Given the description of an element on the screen output the (x, y) to click on. 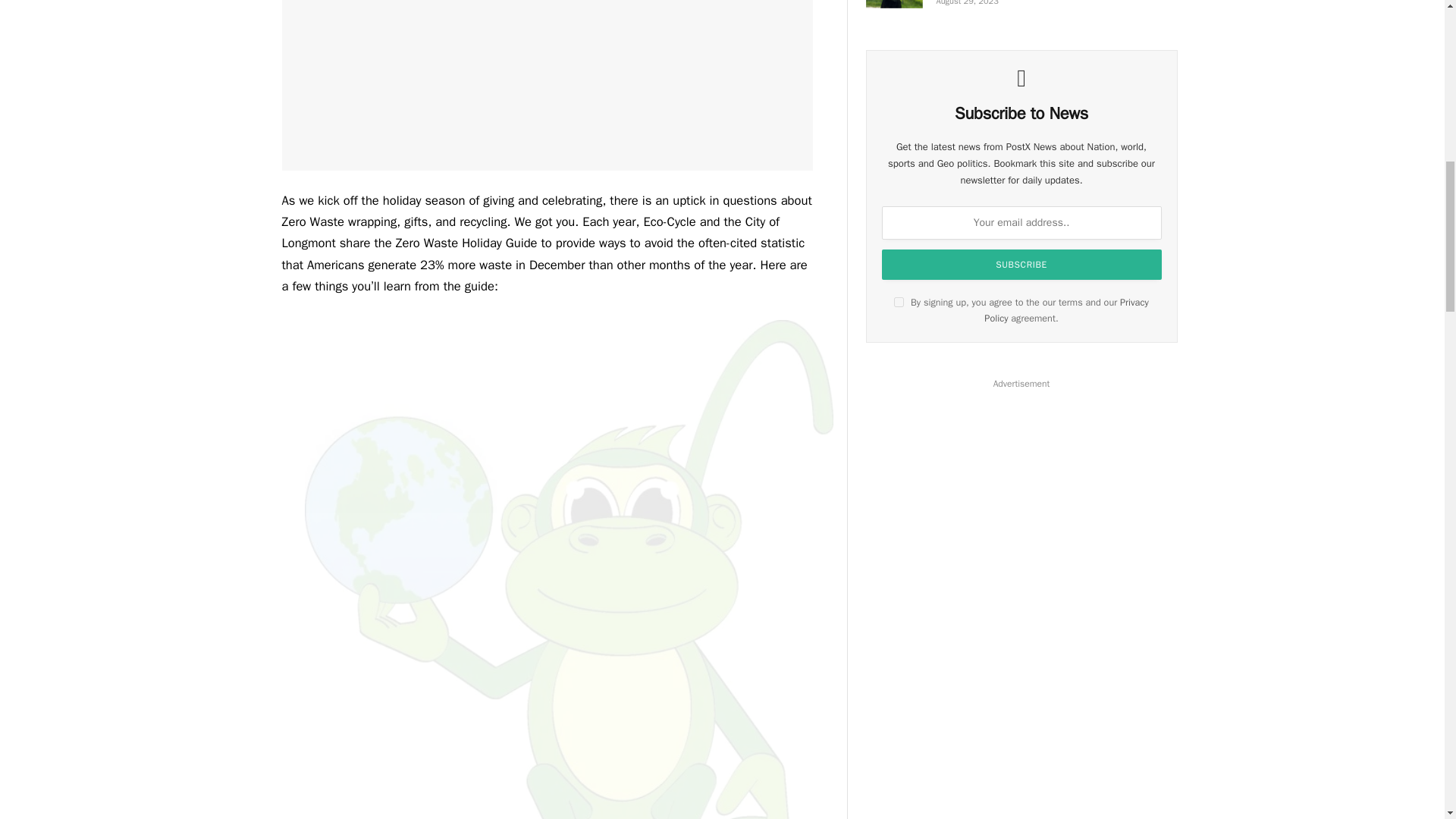
Subscribe (1021, 264)
on (898, 302)
